Given the description of an element on the screen output the (x, y) to click on. 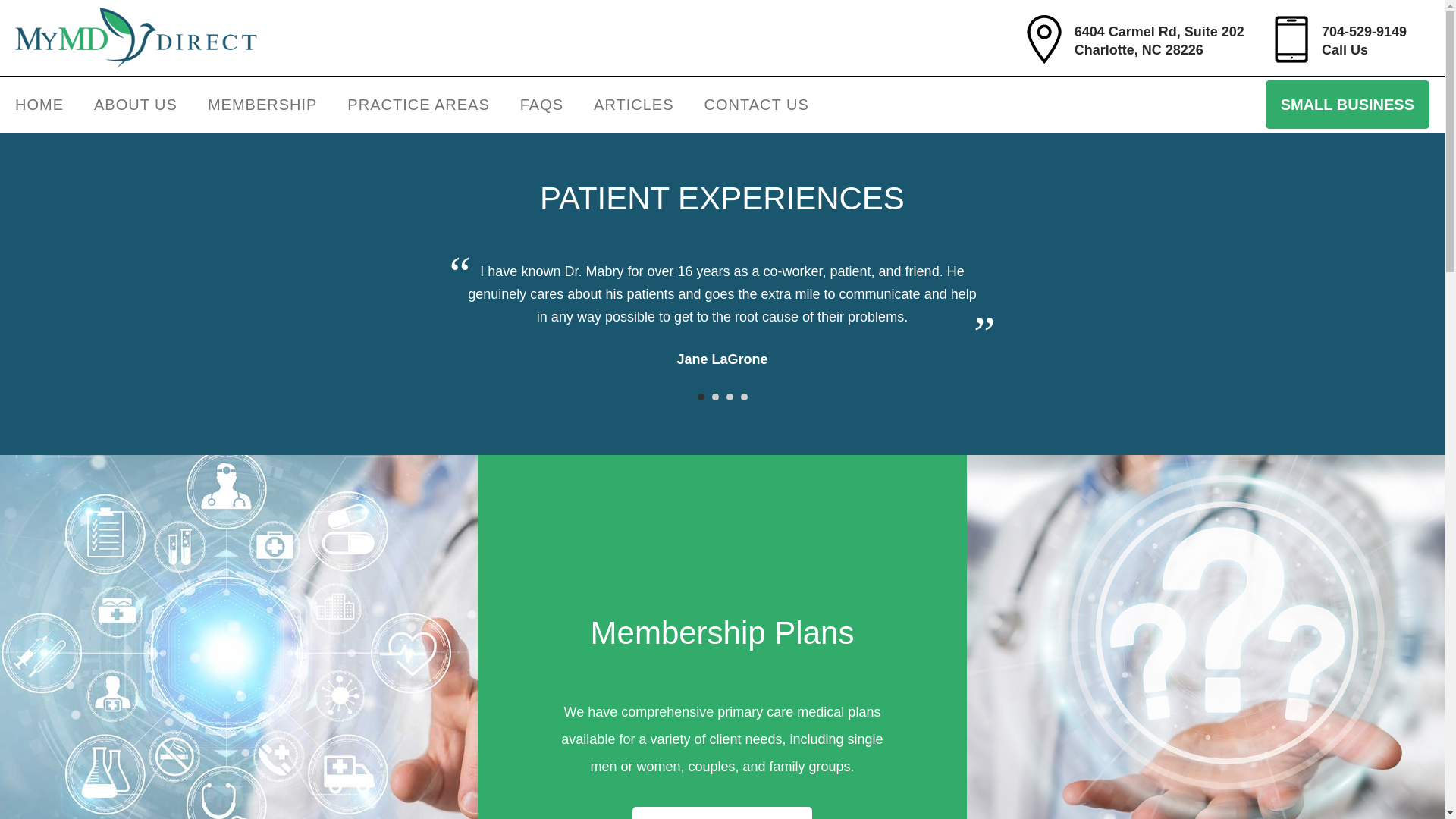
CONTACT US (756, 104)
4 (742, 396)
3 (729, 396)
ARTICLES (633, 104)
MEMBERSHIP (261, 104)
PRACTICE AREAS (417, 104)
2 (714, 396)
FAQS (541, 104)
SMALL BUSINESS (1347, 104)
ABOUT US (135, 104)
HOME (1159, 40)
Click to Call (39, 104)
MyMD Direct - Home (1364, 40)
MORE INFORMATION (135, 37)
